Given the description of an element on the screen output the (x, y) to click on. 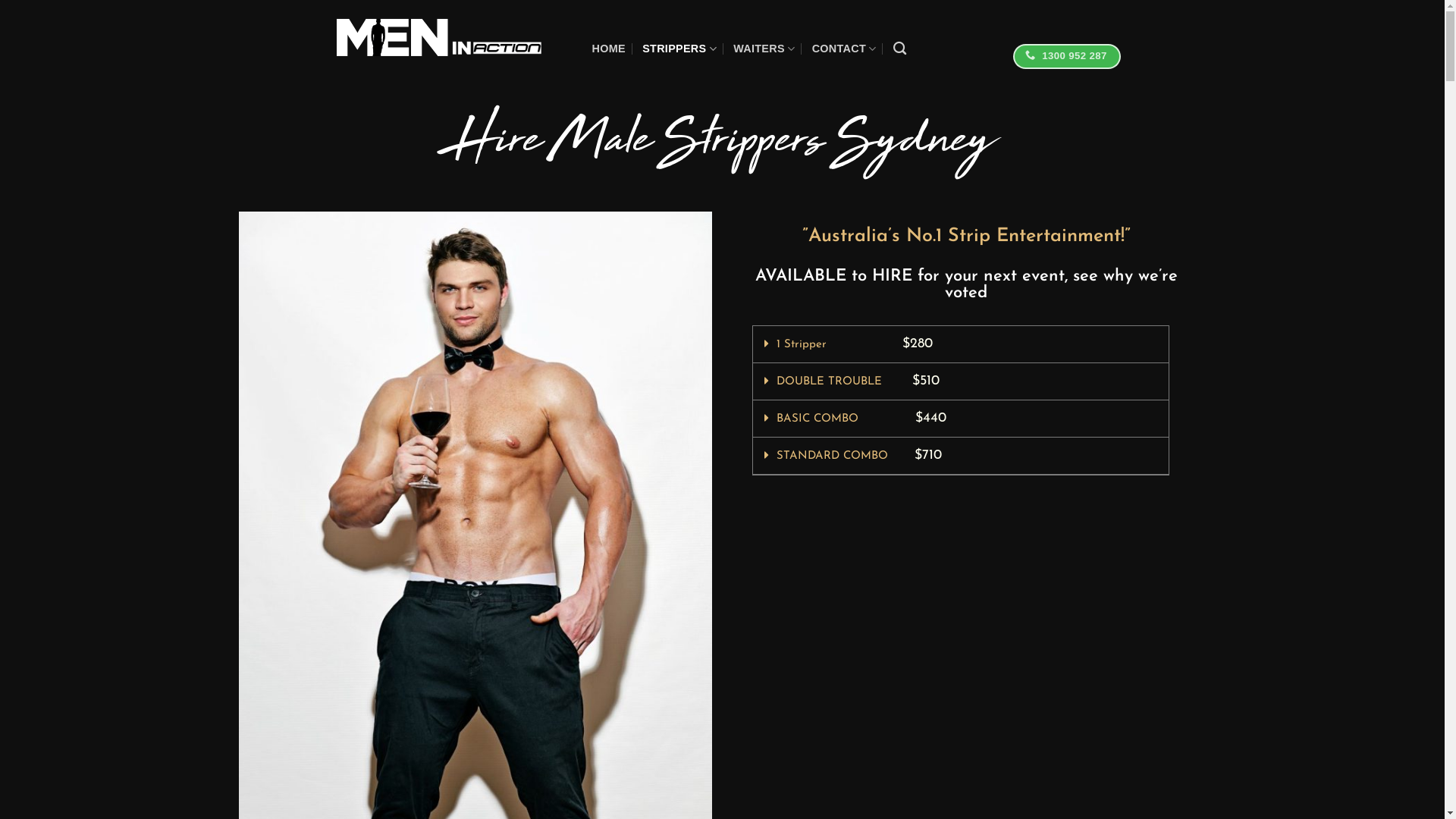
HOME Element type: text (607, 48)
BASIC COMBO               $440 Element type: text (861, 418)
1 Stripper                    $280 Element type: text (854, 344)
STANDARD COMBO       $710 Element type: text (858, 455)
1300 952 287 Element type: text (1066, 56)
CONTACT Element type: text (844, 48)
STRIPPERS Element type: text (679, 48)
WAITERS Element type: text (763, 48)
DOUBLE TROUBLE        $510 Element type: text (857, 381)
